Given the description of an element on the screen output the (x, y) to click on. 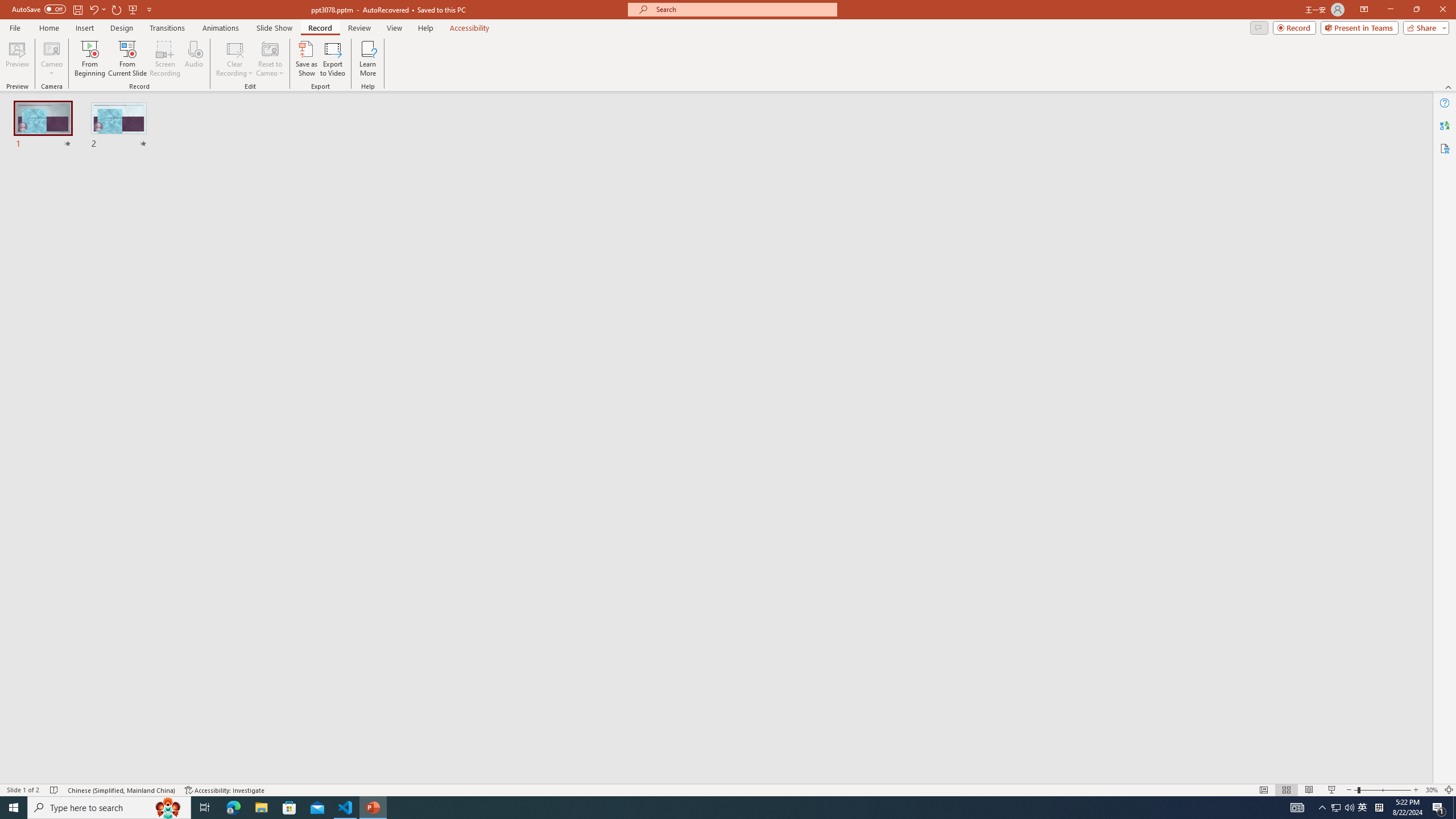
Clear Recording (234, 58)
